Given the description of an element on the screen output the (x, y) to click on. 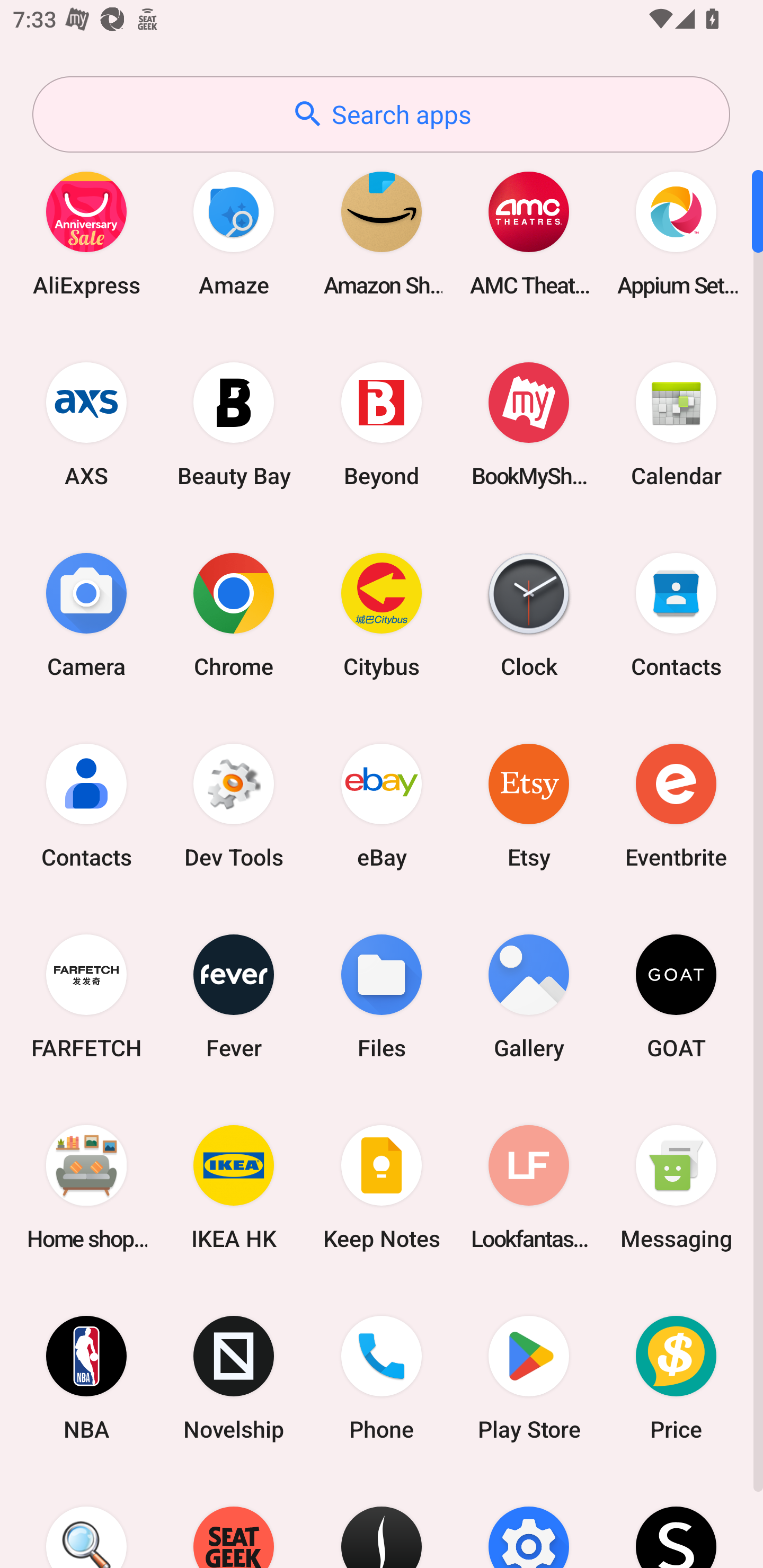
  Search apps (381, 114)
AliExpress (86, 233)
Amaze (233, 233)
Amazon Shopping (381, 233)
AMC Theatres (528, 233)
Appium Settings (676, 233)
AXS (86, 424)
Beauty Bay (233, 424)
Beyond (381, 424)
BookMyShow (528, 424)
Calendar (676, 424)
Camera (86, 614)
Chrome (233, 614)
Citybus (381, 614)
Clock (528, 614)
Contacts (676, 614)
Contacts (86, 805)
Dev Tools (233, 805)
eBay (381, 805)
Etsy (528, 805)
Eventbrite (676, 805)
FARFETCH (86, 996)
Fever (233, 996)
Files (381, 996)
Gallery (528, 996)
GOAT (676, 996)
Home shopping (86, 1186)
IKEA HK (233, 1186)
Keep Notes (381, 1186)
Lookfantastic (528, 1186)
Messaging (676, 1186)
NBA (86, 1377)
Novelship (233, 1377)
Phone (381, 1377)
Play Store (528, 1377)
Price (676, 1377)
